Given the description of an element on the screen output the (x, y) to click on. 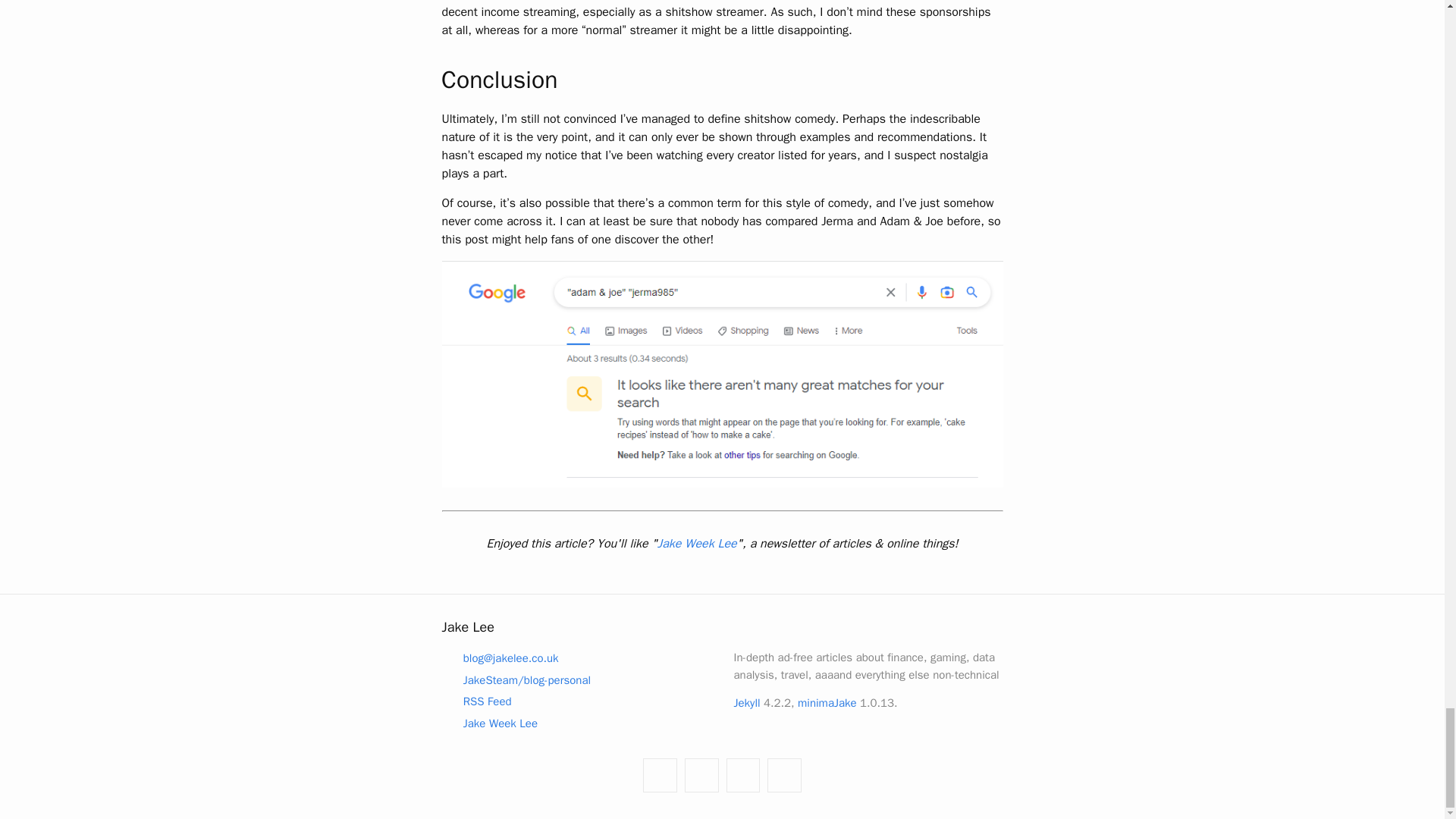
RSS Feed (476, 700)
github (660, 775)
stackoverflow (743, 775)
linkedin (701, 775)
x (784, 775)
Jake Week Lee (489, 722)
